Given the description of an element on the screen output the (x, y) to click on. 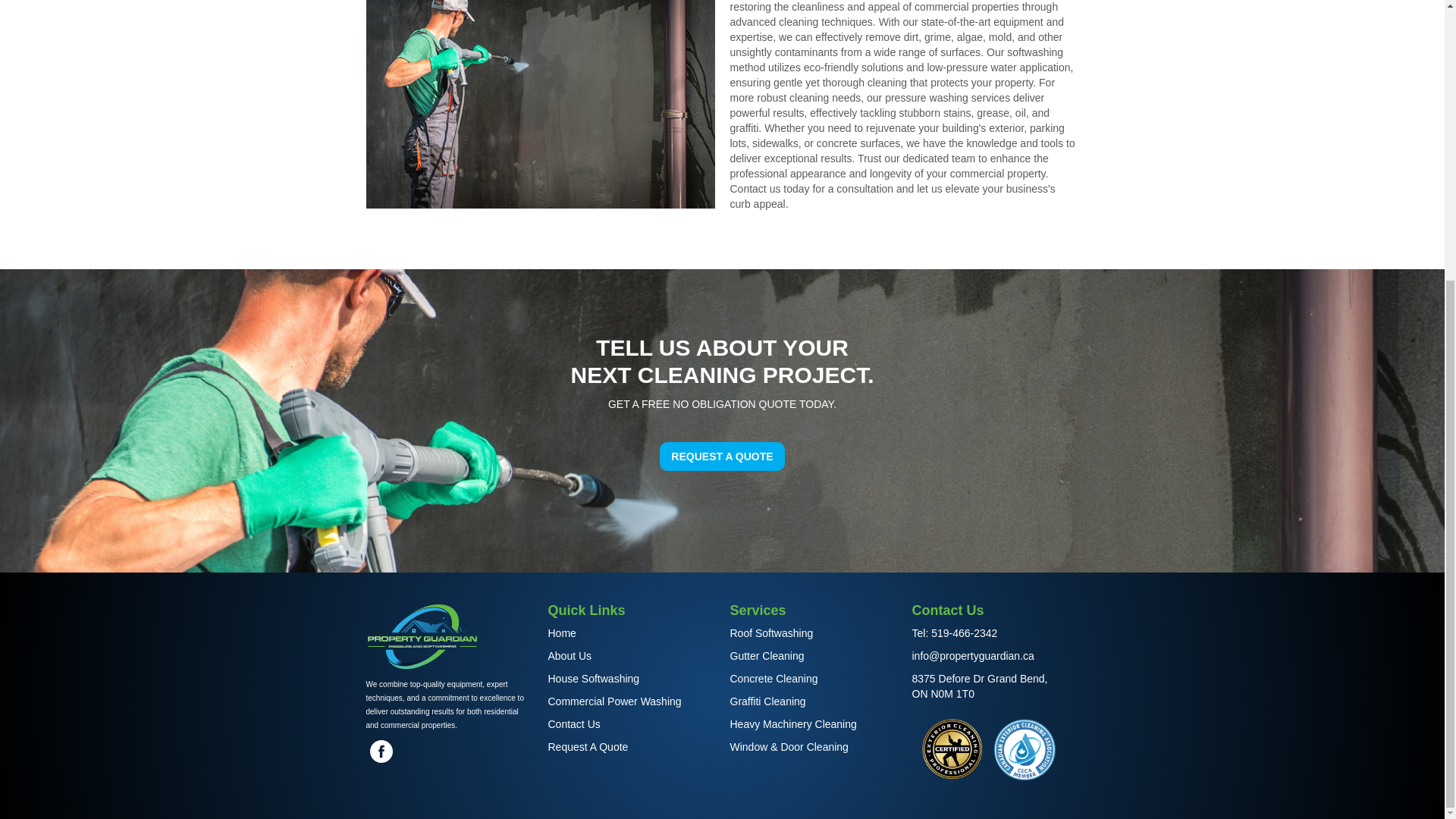
Gutter Cleaning (812, 655)
Concrete Cleaning (812, 678)
Home (630, 632)
About Us (630, 655)
REQUEST A QUOTE (721, 456)
Request A Quote (630, 746)
Commercial Power Washing (630, 701)
Tel: 519-466-2342 (994, 632)
House Softwashing (630, 678)
Graffiti Cleaning (812, 701)
Heavy Machinery Cleaning (812, 724)
Contact Us (630, 724)
Roof Softwashing (812, 632)
